Given the description of an element on the screen output the (x, y) to click on. 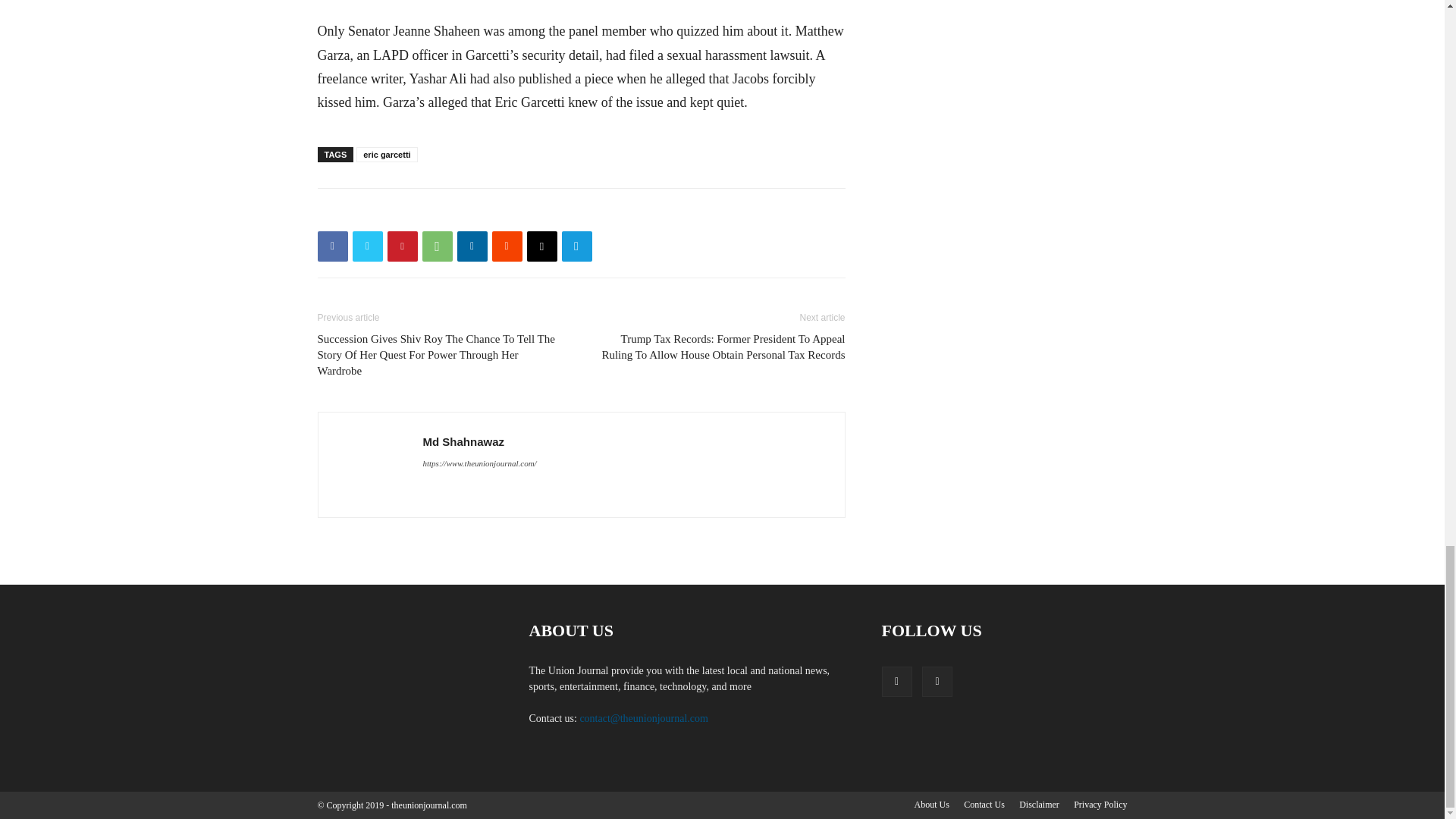
Pinterest (401, 245)
WhatsApp (436, 245)
Twitter (366, 245)
Facebook (332, 245)
